Given the description of an element on the screen output the (x, y) to click on. 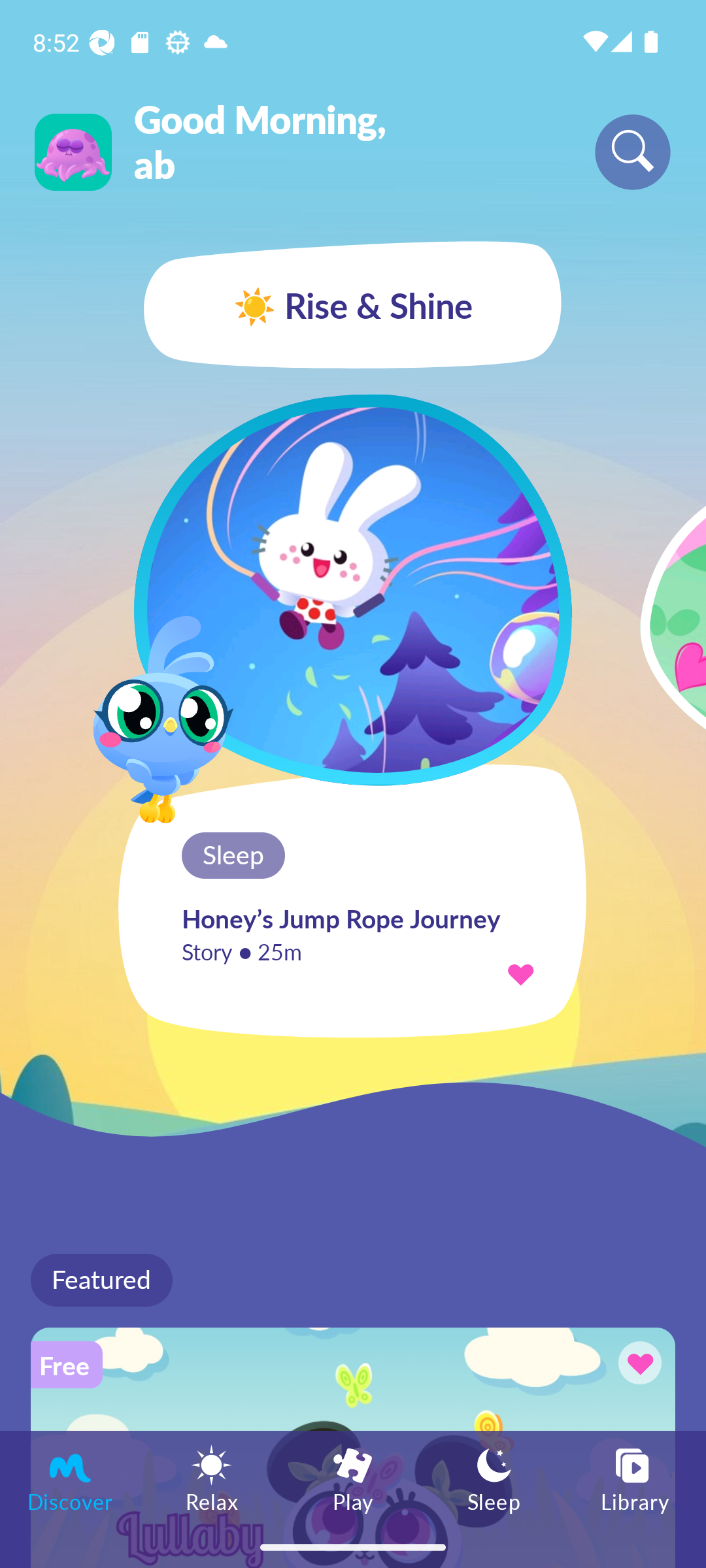
Search (632, 151)
action (520, 973)
Button (636, 1365)
Relax (211, 1478)
Play (352, 1478)
Sleep (493, 1478)
Library (635, 1478)
